Given the description of an element on the screen output the (x, y) to click on. 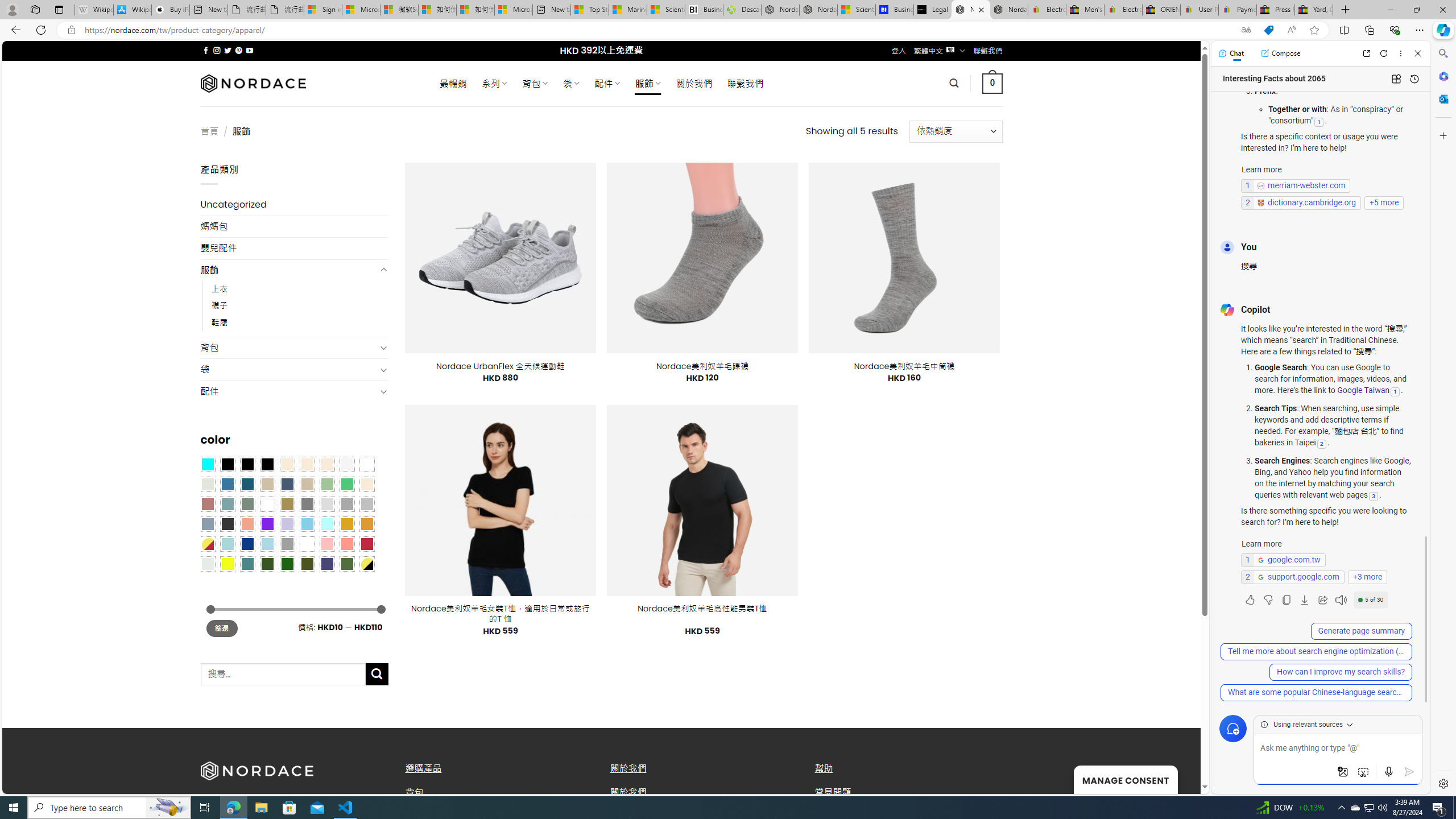
MANAGE CONSENT (1125, 779)
